Given the description of an element on the screen output the (x, y) to click on. 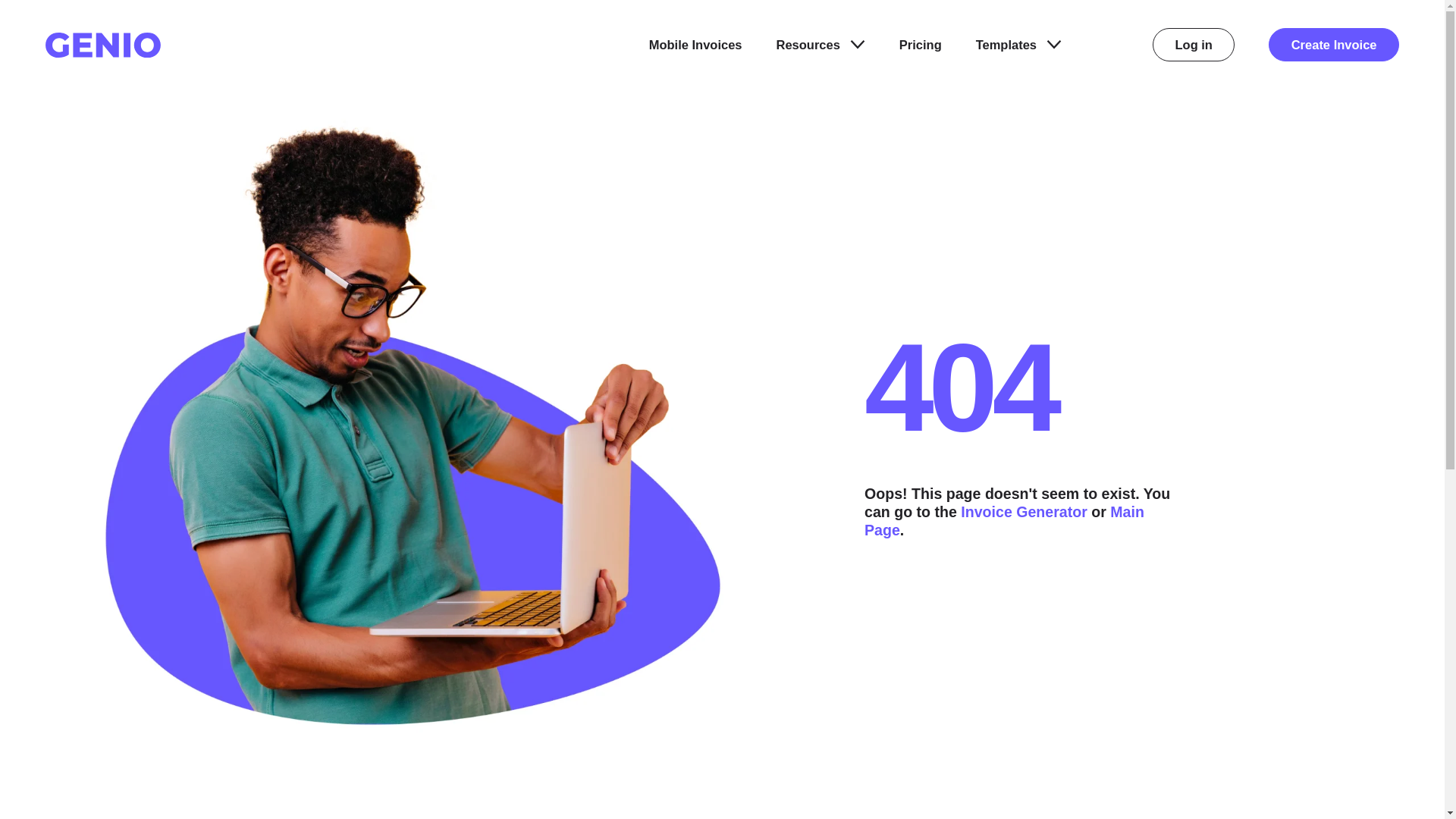
Main Page (1004, 520)
Create Invoice (1333, 44)
Mobile Invoices (695, 44)
Pricing (920, 44)
Log in (1193, 44)
Templates (1018, 44)
Invoice Generator (1023, 511)
